Given the description of an element on the screen output the (x, y) to click on. 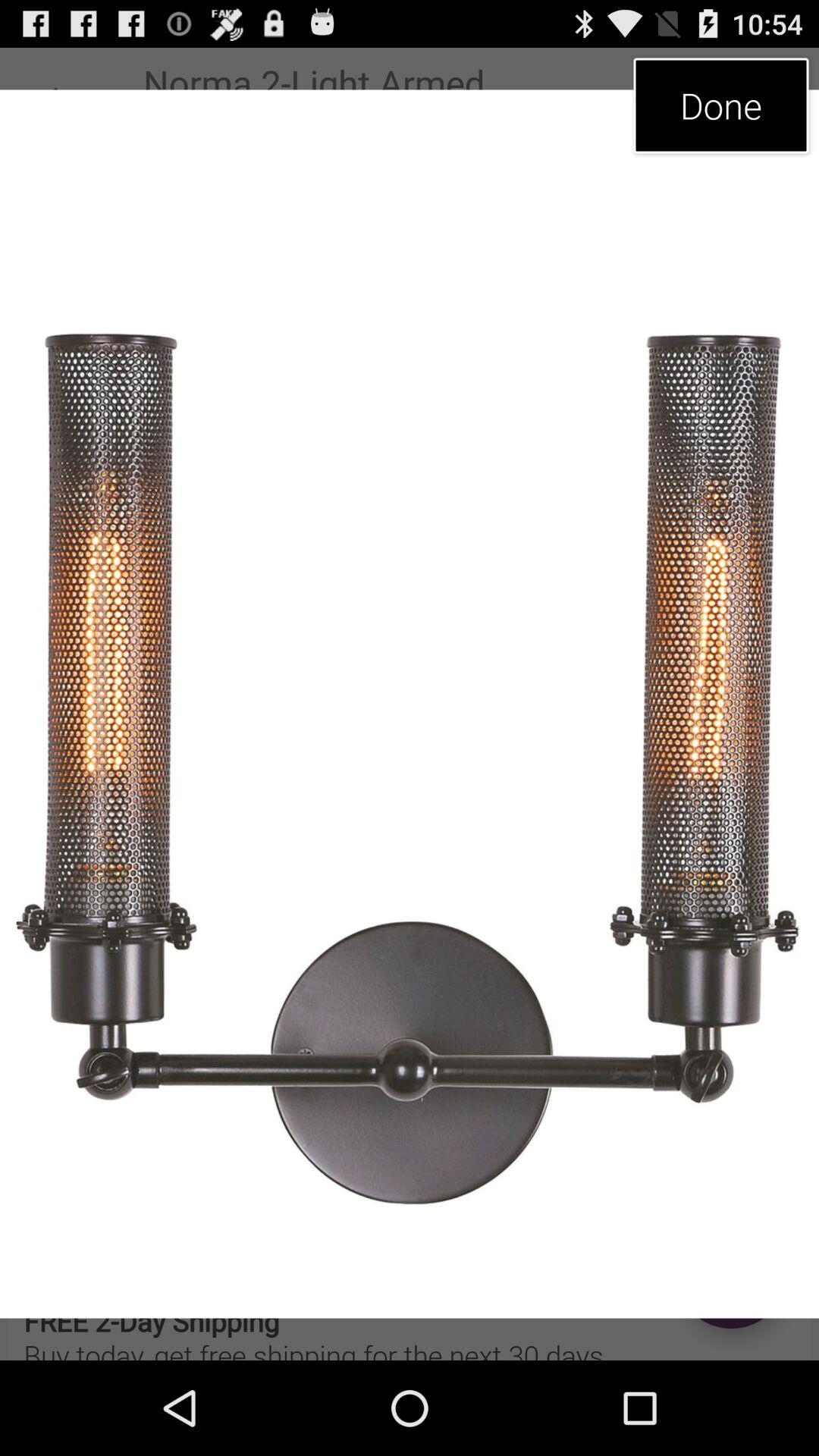
jump to the done icon (720, 105)
